Given the description of an element on the screen output the (x, y) to click on. 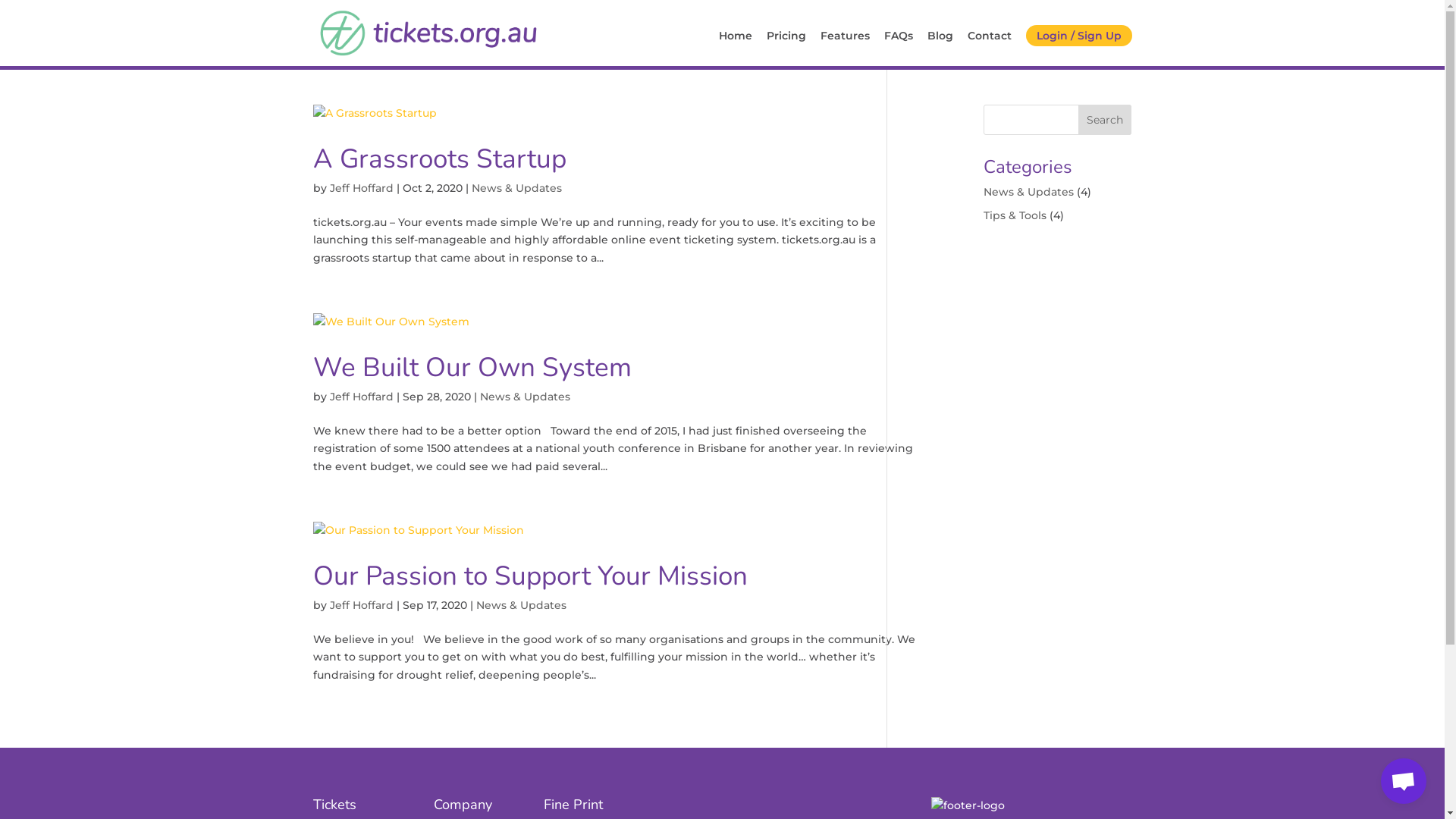
Home Element type: text (735, 47)
Our Passion to Support Your Mission Element type: text (529, 575)
Search Element type: text (1104, 119)
Features Element type: text (844, 47)
News & Updates Element type: text (521, 604)
News & Updates Element type: text (524, 396)
Jeff Hoffard Element type: text (360, 396)
Contact Element type: text (989, 47)
News & Updates Element type: text (1028, 191)
Login / Sign Up Element type: text (1078, 35)
Jeff Hoffard Element type: text (360, 187)
Pricing Element type: text (785, 47)
Blog Element type: text (939, 47)
Tips & Tools Element type: text (1014, 215)
News & Updates Element type: text (516, 187)
FAQs Element type: text (898, 47)
We Built Our Own System Element type: text (471, 367)
A Grassroots Startup Element type: text (438, 158)
Jeff Hoffard Element type: text (360, 604)
